Given the description of an element on the screen output the (x, y) to click on. 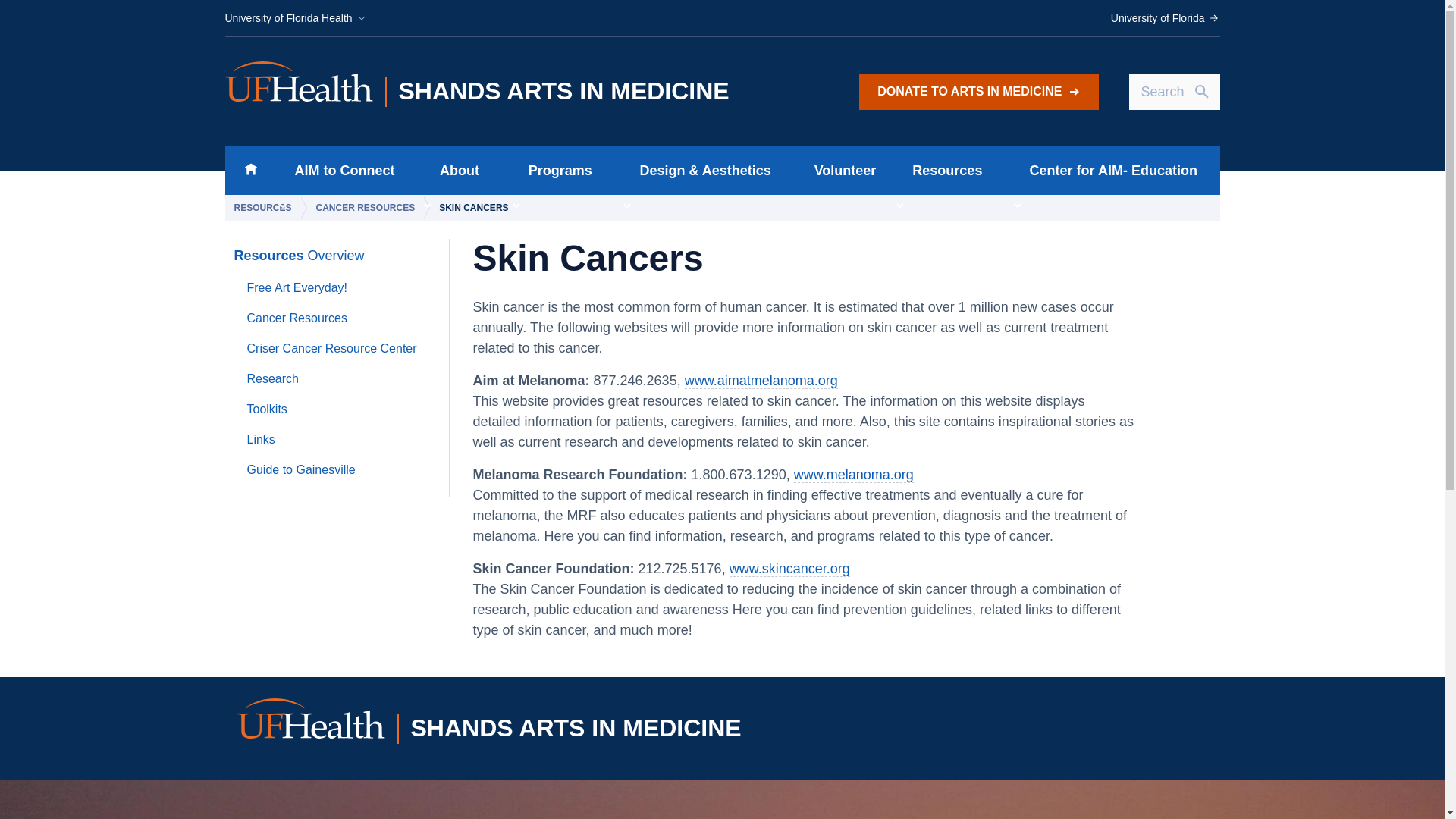
University of Florida (1165, 18)
Programs (556, 170)
AIM to Connect (339, 170)
University of Florida Health (295, 18)
DONATE TO ARTS IN MEDICINE (978, 91)
Home (250, 170)
SHANDS ARTS IN MEDICINE (515, 91)
About (454, 170)
